Given the description of an element on the screen output the (x, y) to click on. 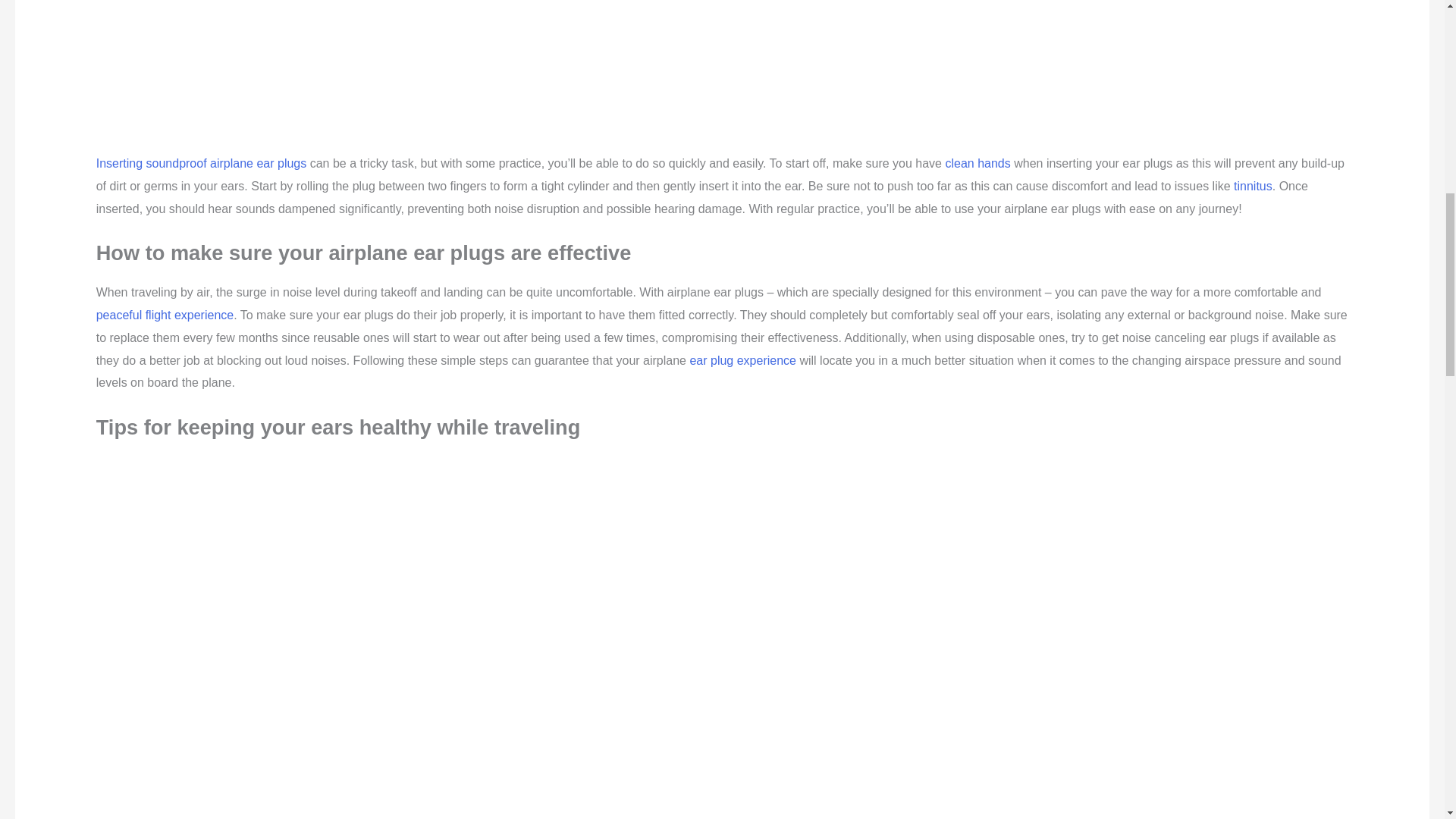
peaceful flight experience (164, 314)
tinnitus (1252, 185)
ear plug experience (742, 359)
clean hands (977, 163)
Inserting soundproof airplane ear plugs (201, 163)
